Given the description of an element on the screen output the (x, y) to click on. 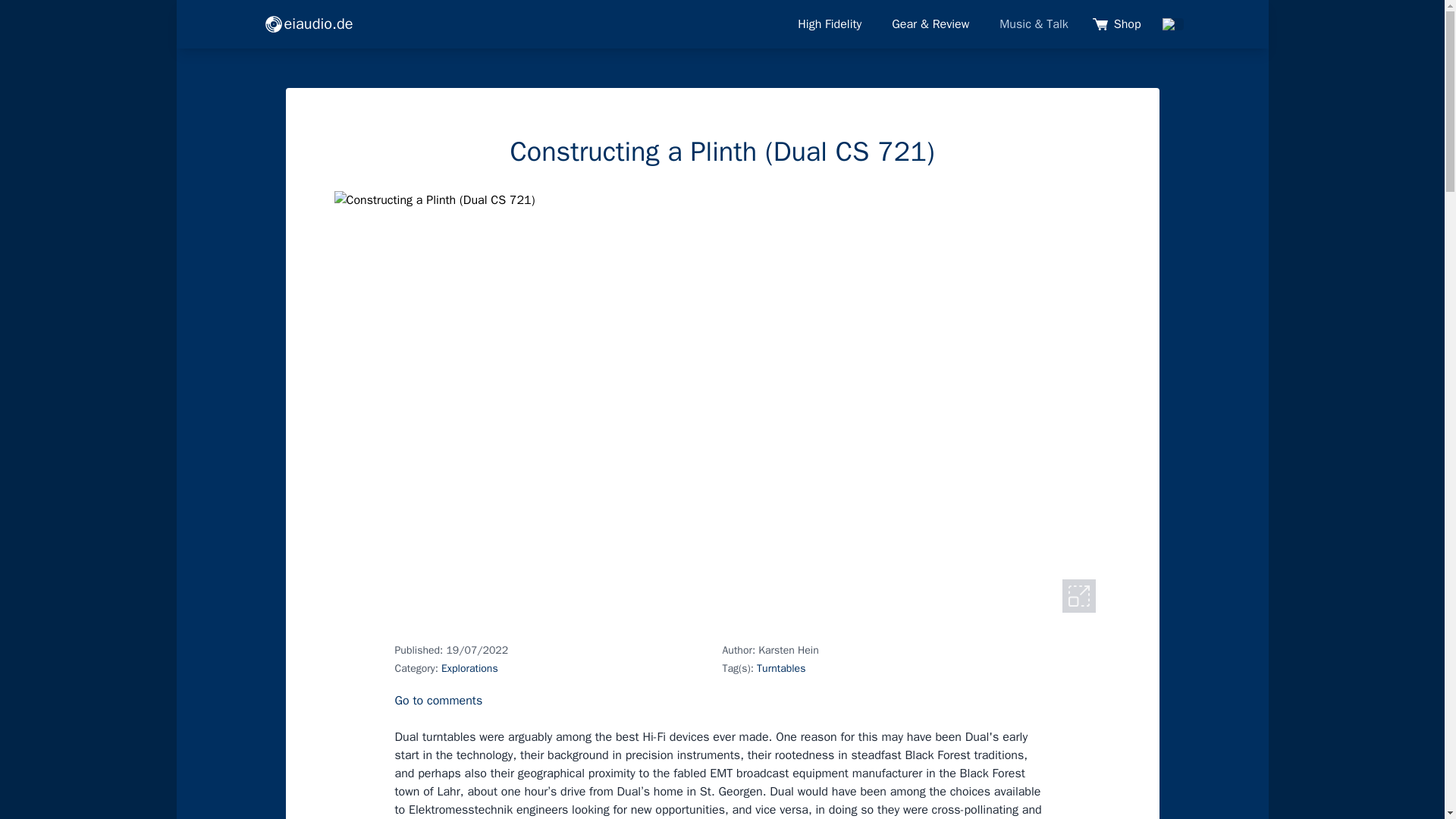
Shop (1119, 24)
Home (307, 24)
High Fidelity (829, 24)
Wechseln auf Deutsch (1171, 24)
eiaudio.de (307, 24)
View image in new tab (1077, 595)
